Given the description of an element on the screen output the (x, y) to click on. 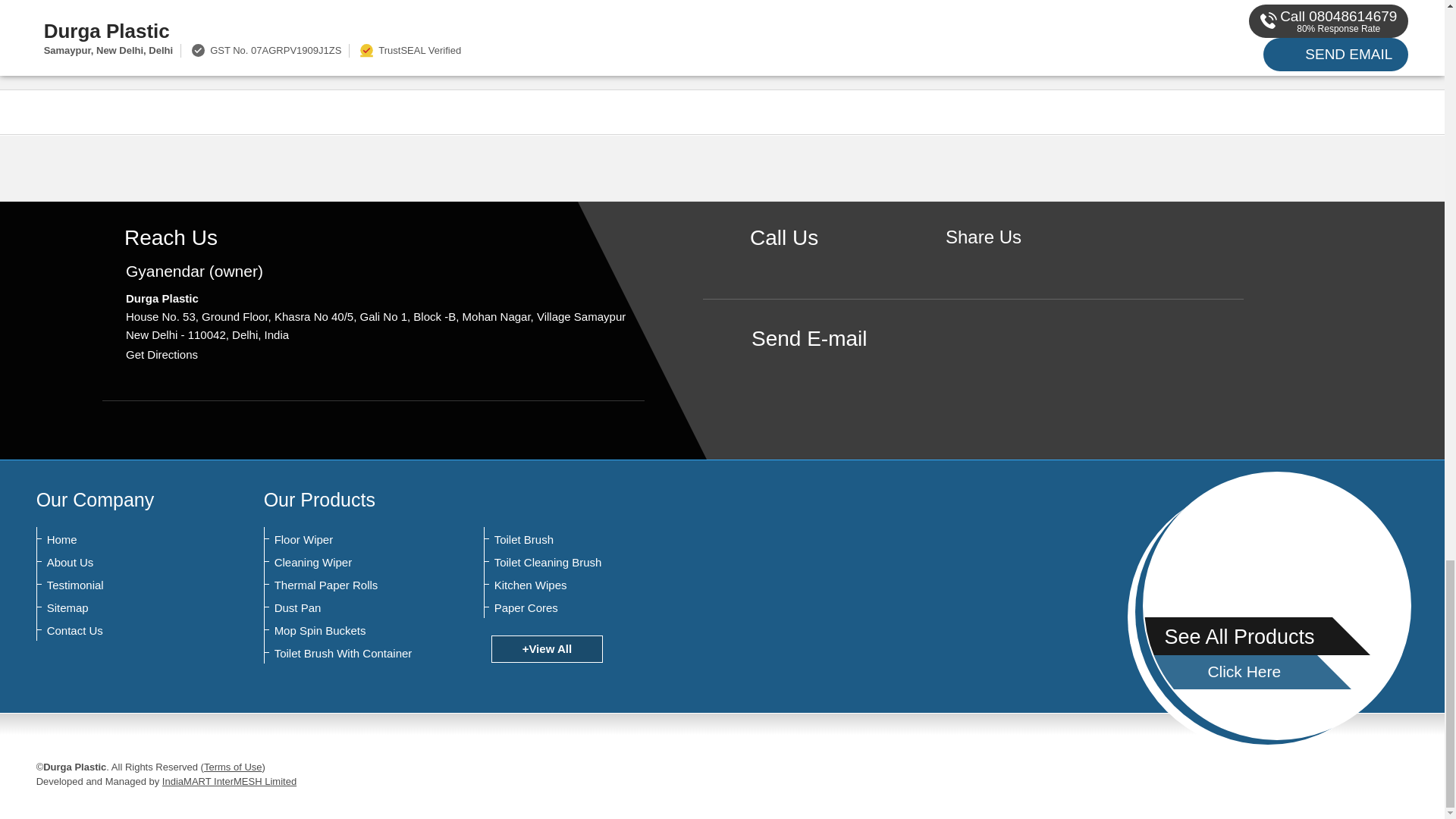
Get Directions (161, 354)
Facebook (983, 262)
Home (121, 539)
LinkedIn (1029, 262)
Twitter (1006, 262)
